Given the description of an element on the screen output the (x, y) to click on. 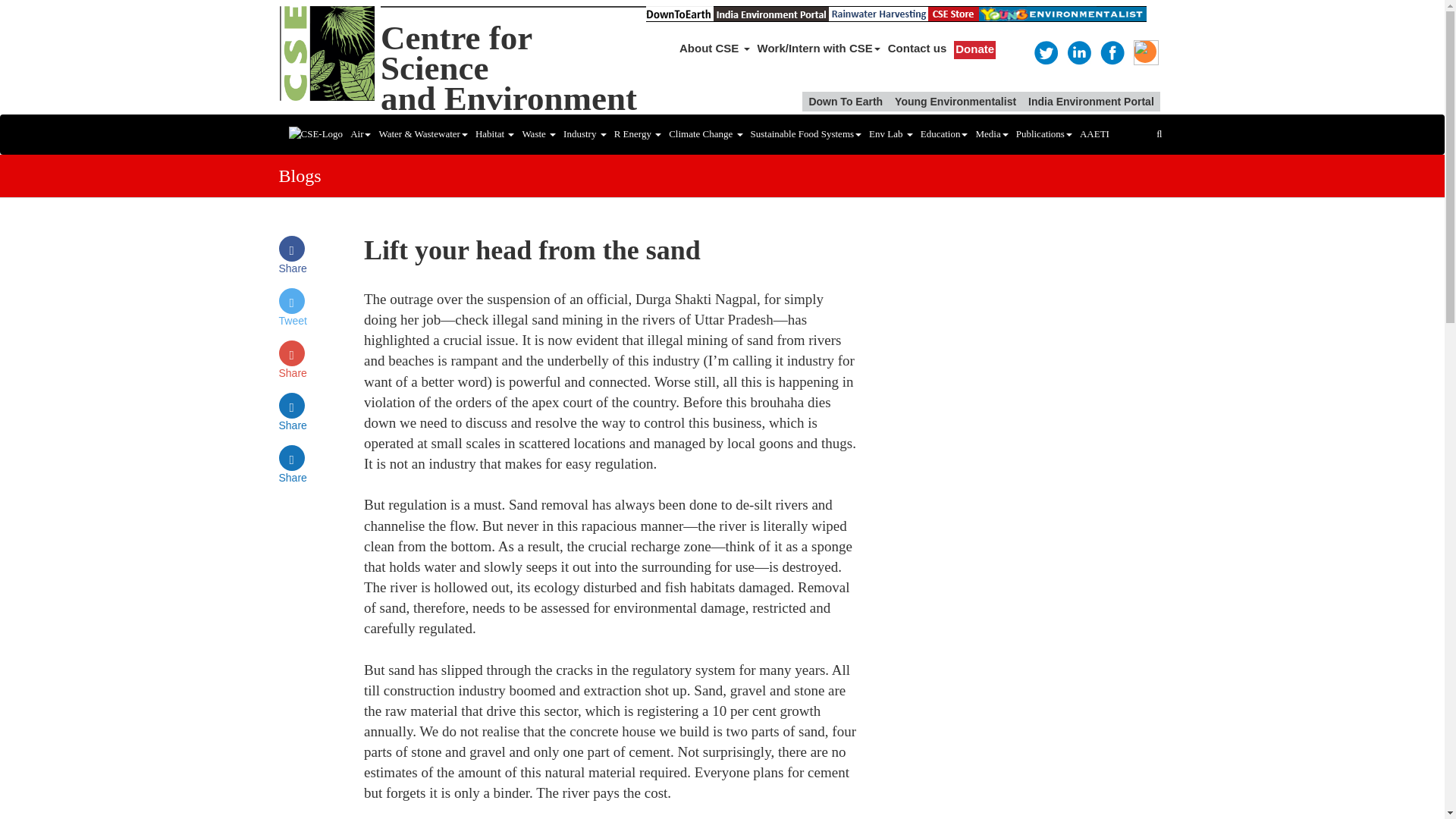
Linkedin (1078, 51)
Donate (974, 49)
Contact us (916, 48)
About CSE (714, 48)
Instagram (1145, 51)
Down To Earth (845, 101)
Twitter (1045, 51)
Young Environmentalist (508, 67)
India Environment Portal (954, 101)
Air (1091, 101)
Facebook (360, 133)
